Given the description of an element on the screen output the (x, y) to click on. 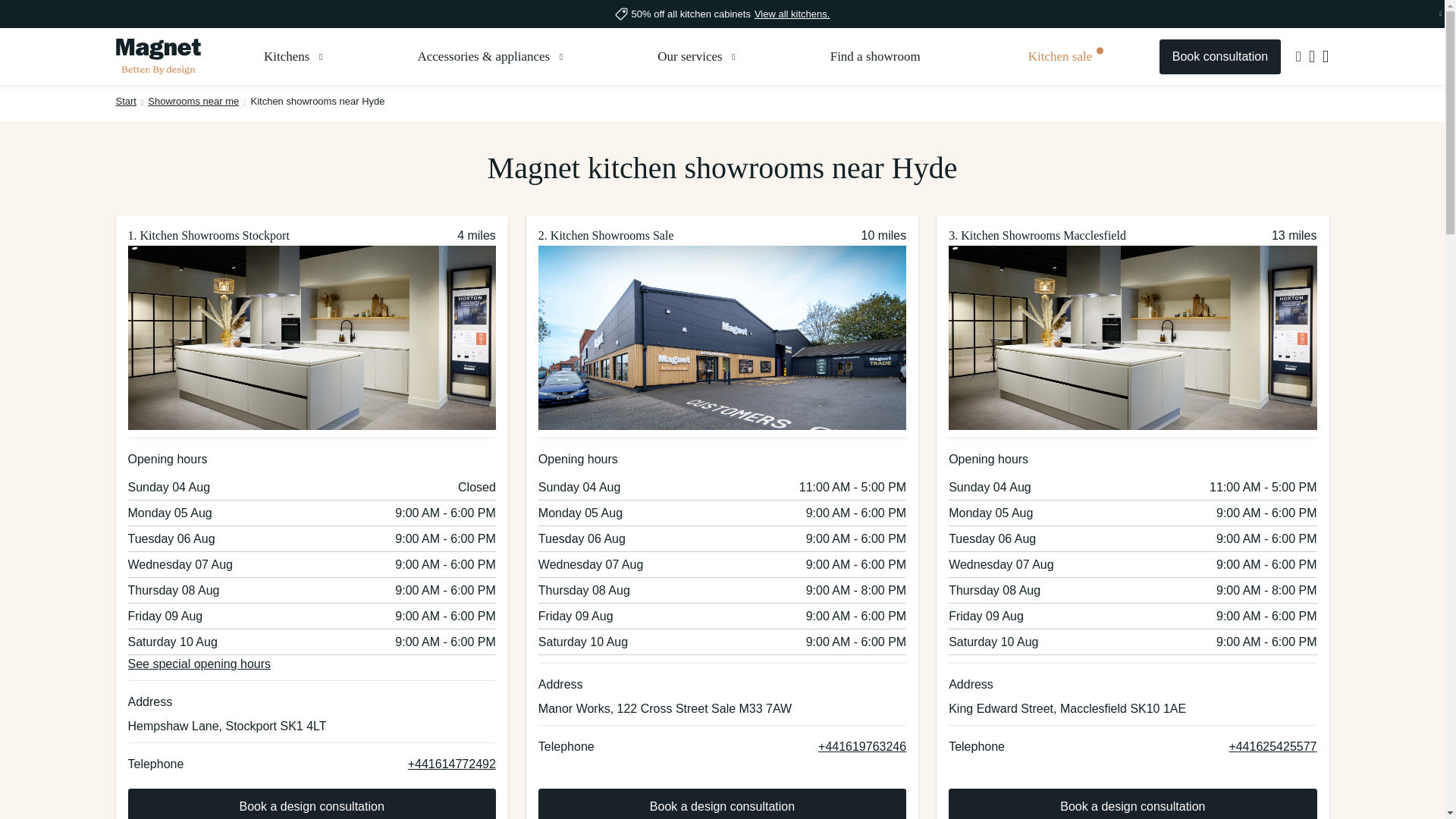
View all kitchens. (791, 13)
Go to start page (157, 55)
